Given the description of an element on the screen output the (x, y) to click on. 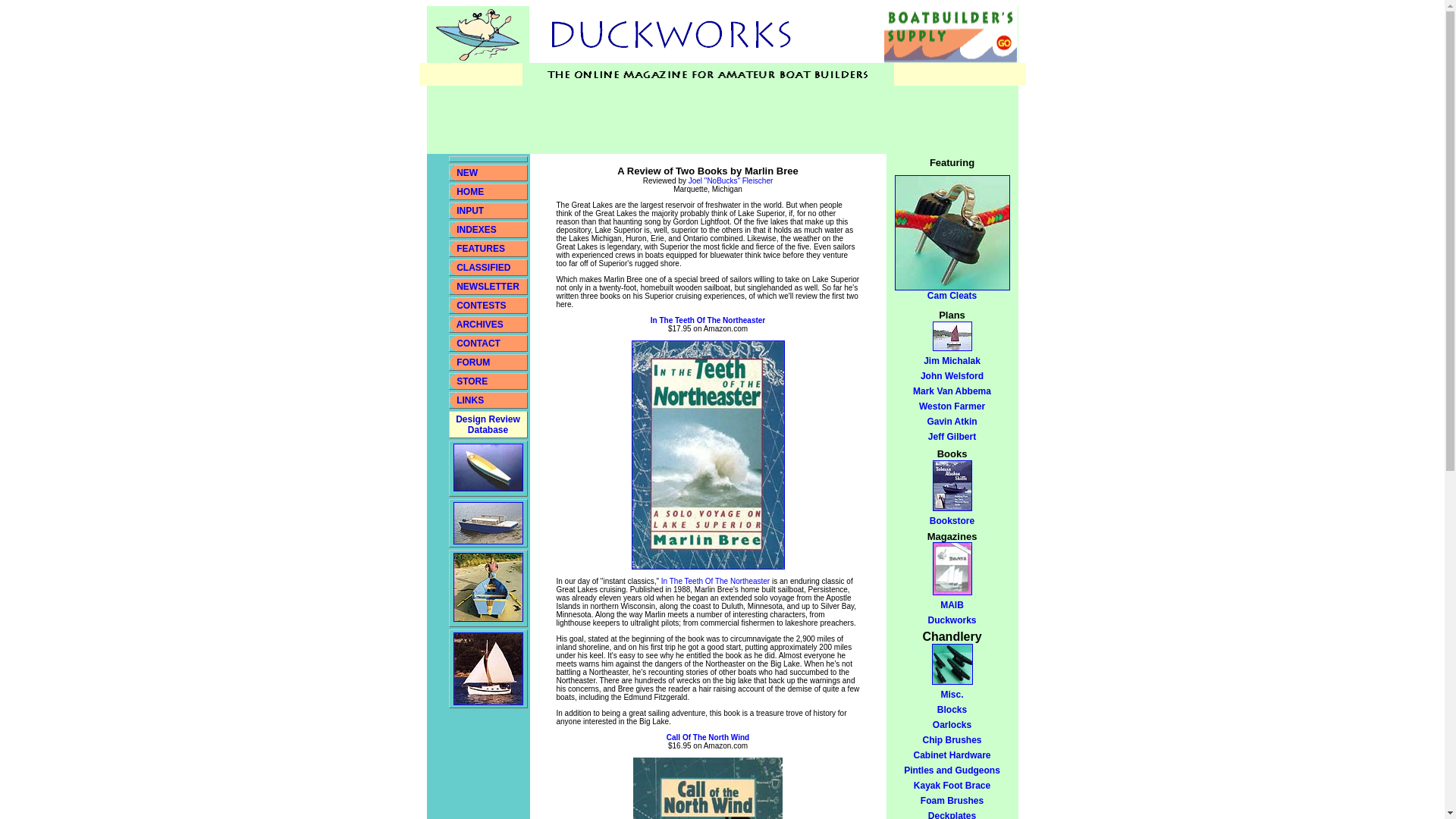
NEWSLETTER (487, 424)
INDEXES (488, 286)
CONTACT (476, 229)
NEW (478, 343)
ARCHIVES (467, 172)
Gavin Atkin (480, 324)
Call Of The North Wind (951, 421)
FORUM (707, 737)
STORE (473, 362)
Jeff Gilbert (472, 380)
John Welsford (951, 436)
In The Teeth Of The Northeaster (952, 376)
In The Teeth Of The Northeaster (715, 581)
Mark Van Abbema (707, 320)
